Given the description of an element on the screen output the (x, y) to click on. 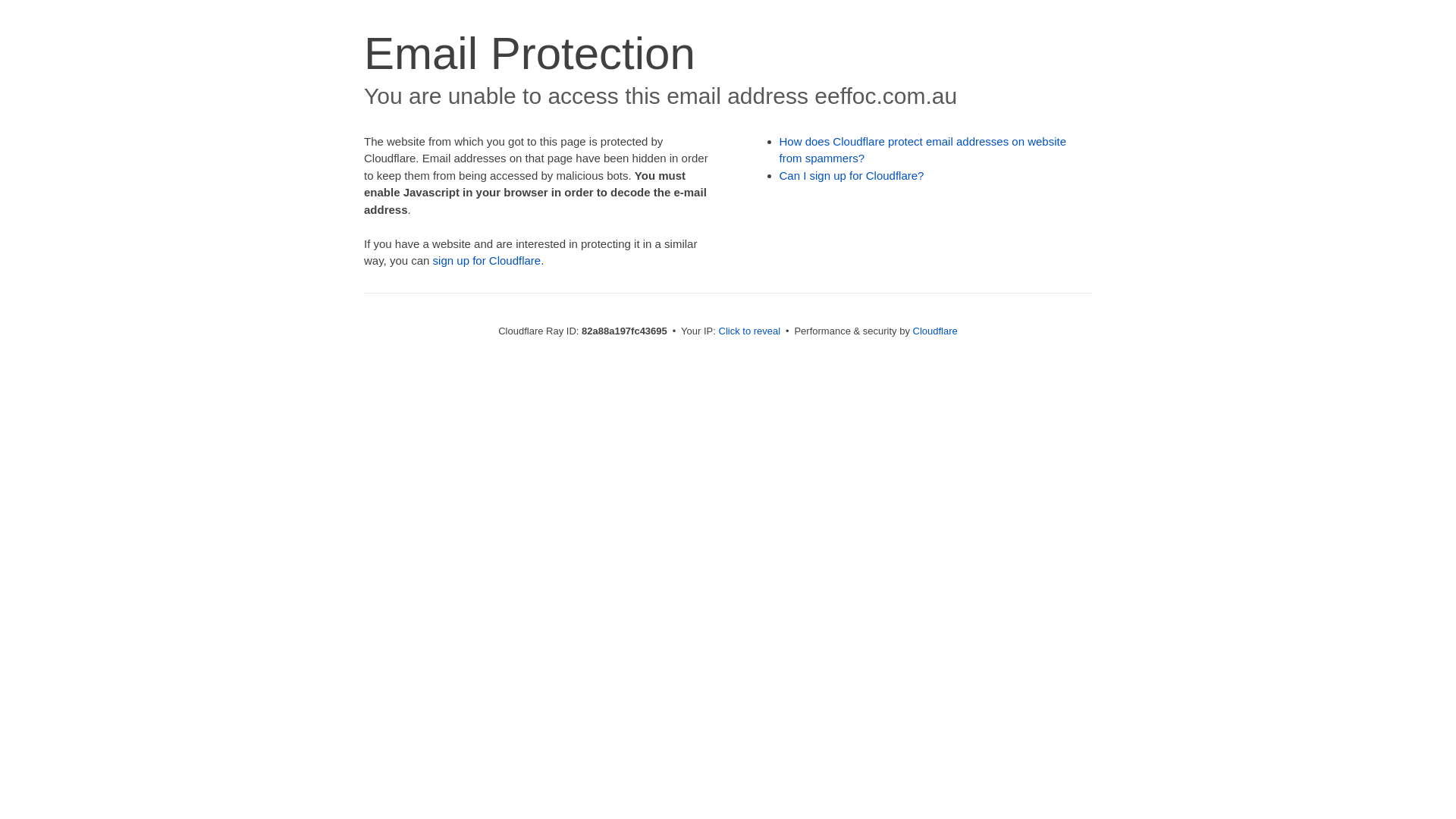
Cloudflare Element type: text (935, 330)
Click to reveal Element type: text (749, 330)
sign up for Cloudflare Element type: text (487, 260)
Can I sign up for Cloudflare? Element type: text (851, 175)
